Given the description of an element on the screen output the (x, y) to click on. 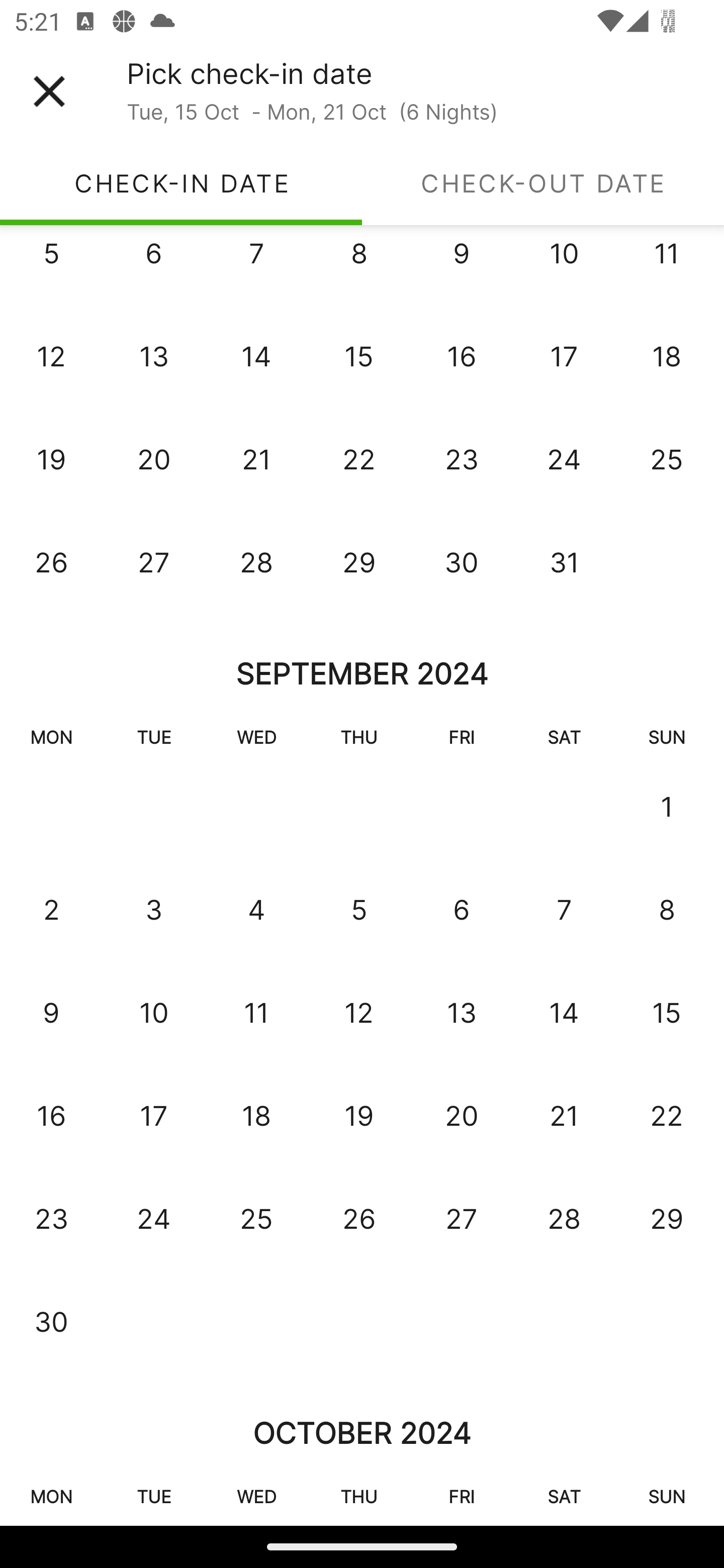
Check-out Date CHECK-OUT DATE (543, 183)
